Given the description of an element on the screen output the (x, y) to click on. 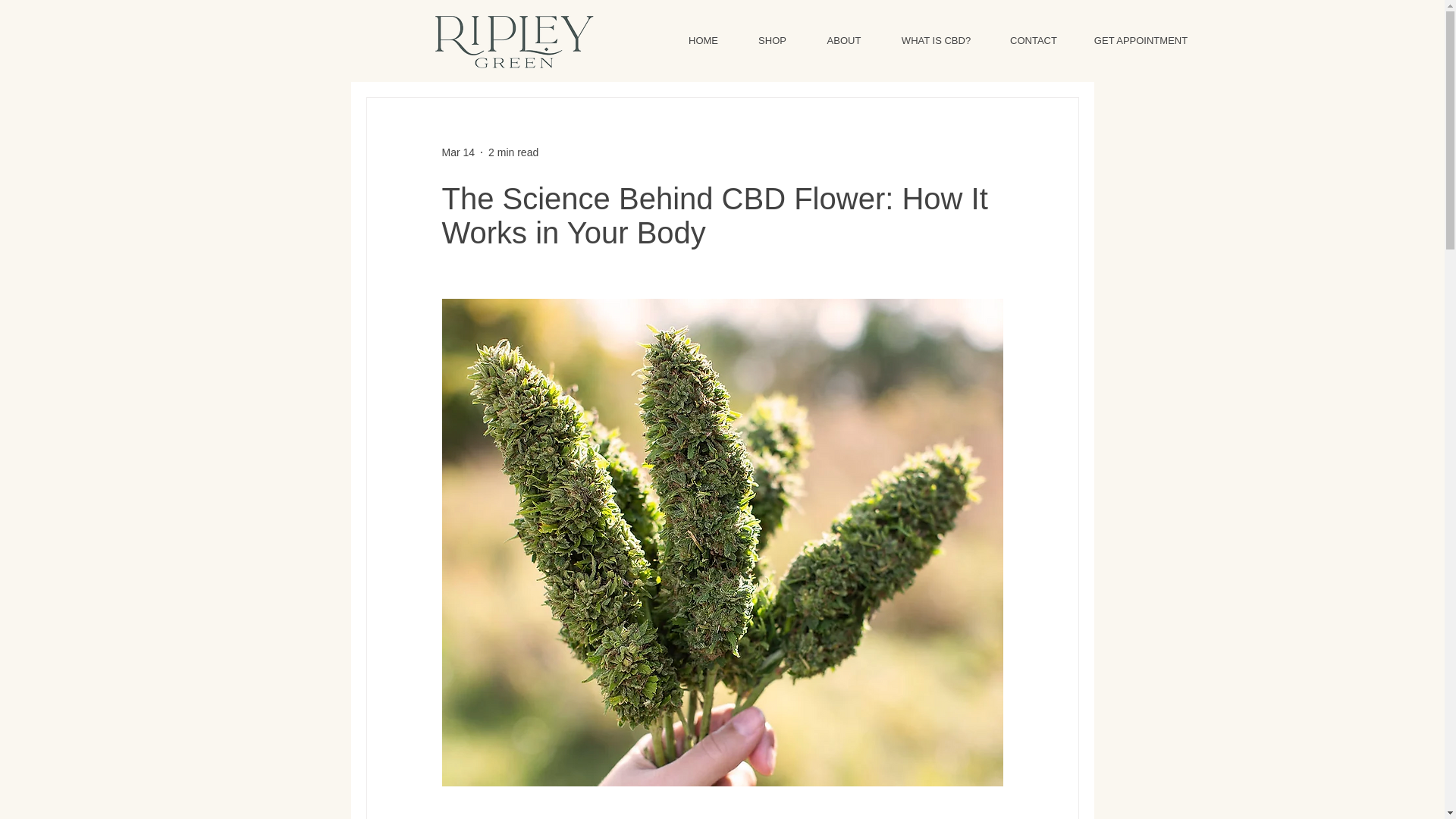
2 min read (512, 151)
Mar 14 (457, 151)
WHAT IS CBD? (935, 40)
CONTACT (1032, 40)
HOME (703, 40)
GET APPOINTMENT (1141, 40)
SHOP (772, 40)
ABOUT (844, 40)
